Given the description of an element on the screen output the (x, y) to click on. 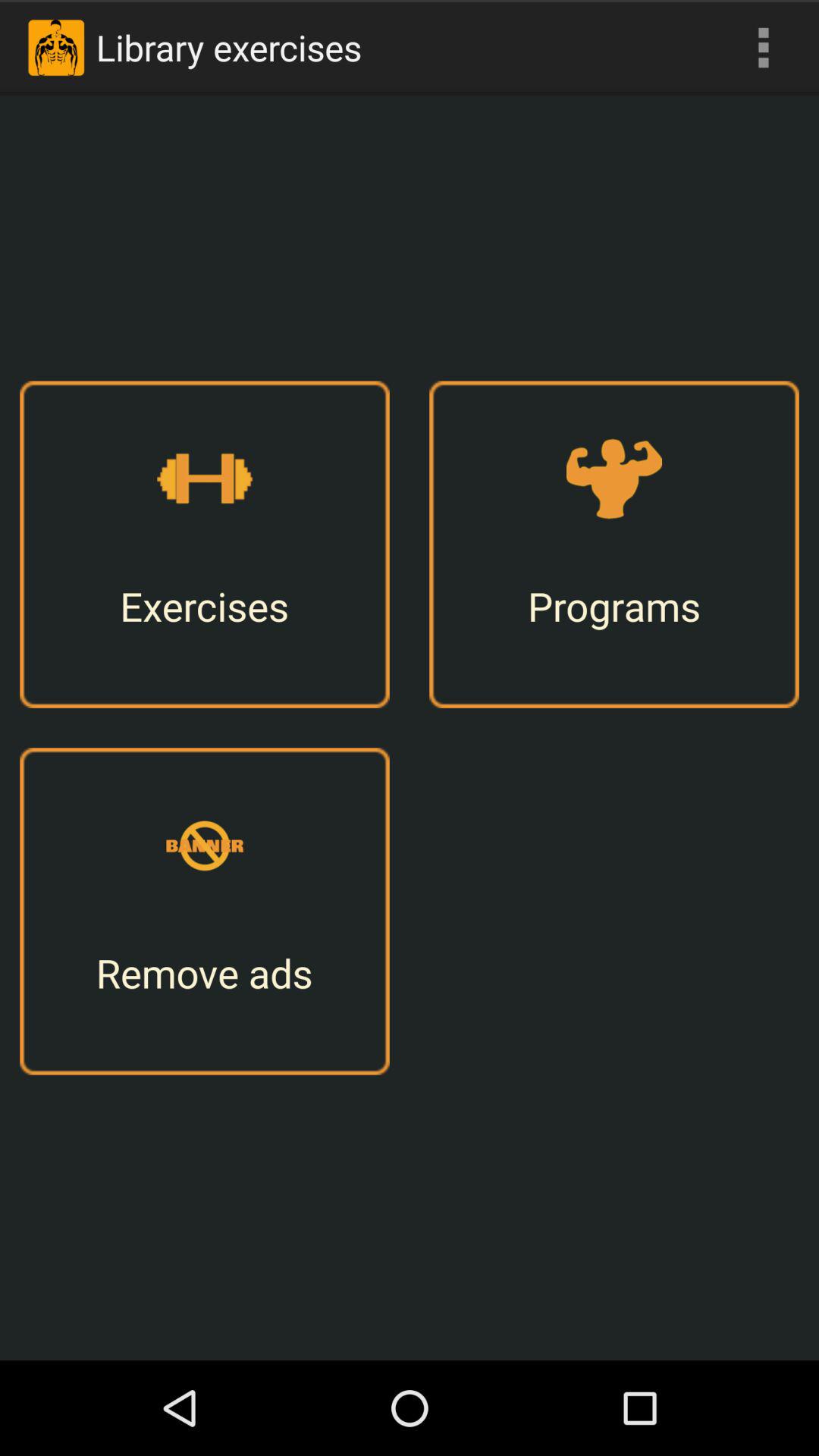
press the icon next to library exercises app (763, 47)
